Given the description of an element on the screen output the (x, y) to click on. 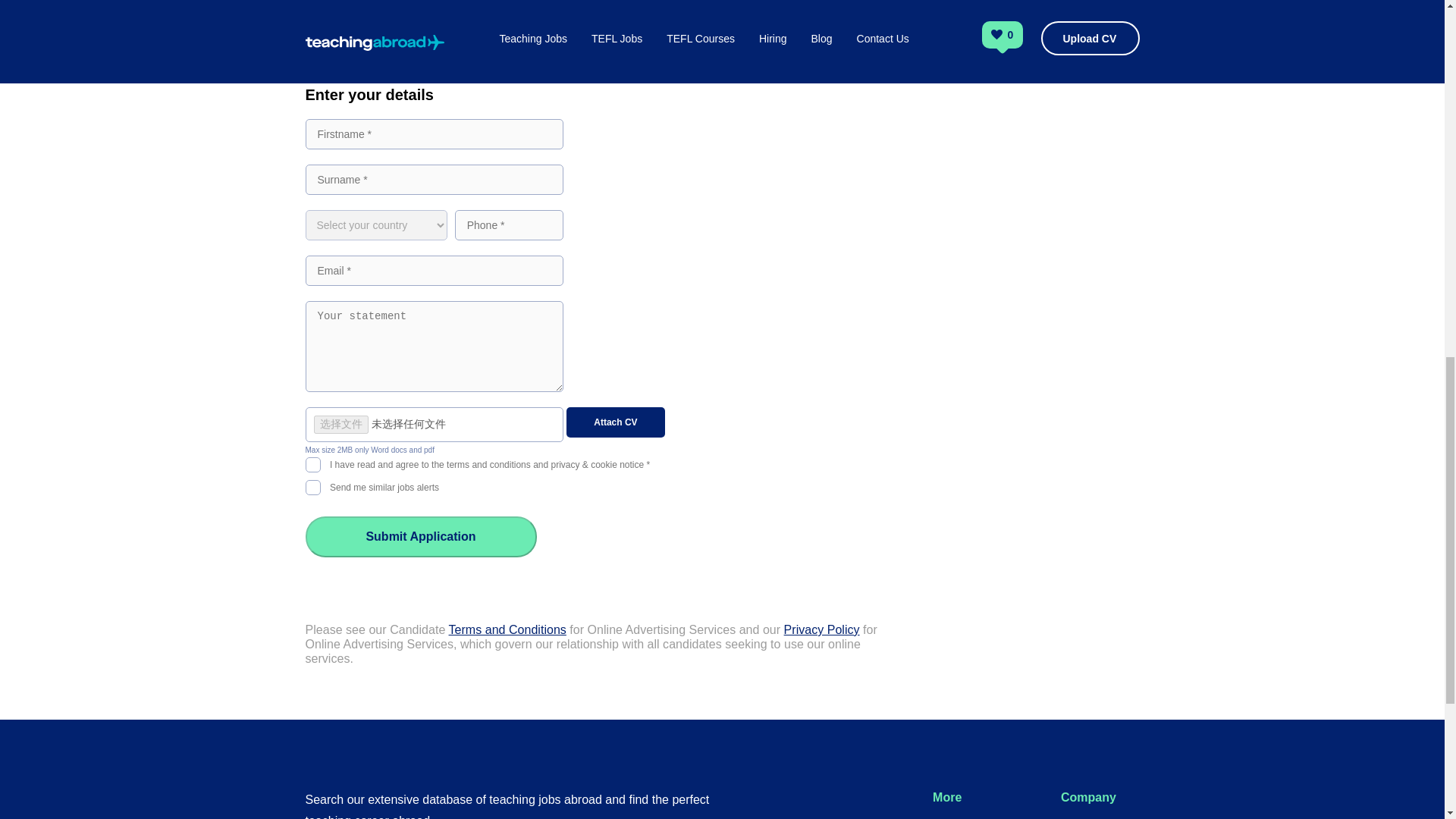
Submit Application (419, 536)
Terms and Conditions (507, 629)
on (312, 485)
Please see our Candidate (376, 629)
on (312, 462)
Privacy Policy (822, 629)
